Given the description of an element on the screen output the (x, y) to click on. 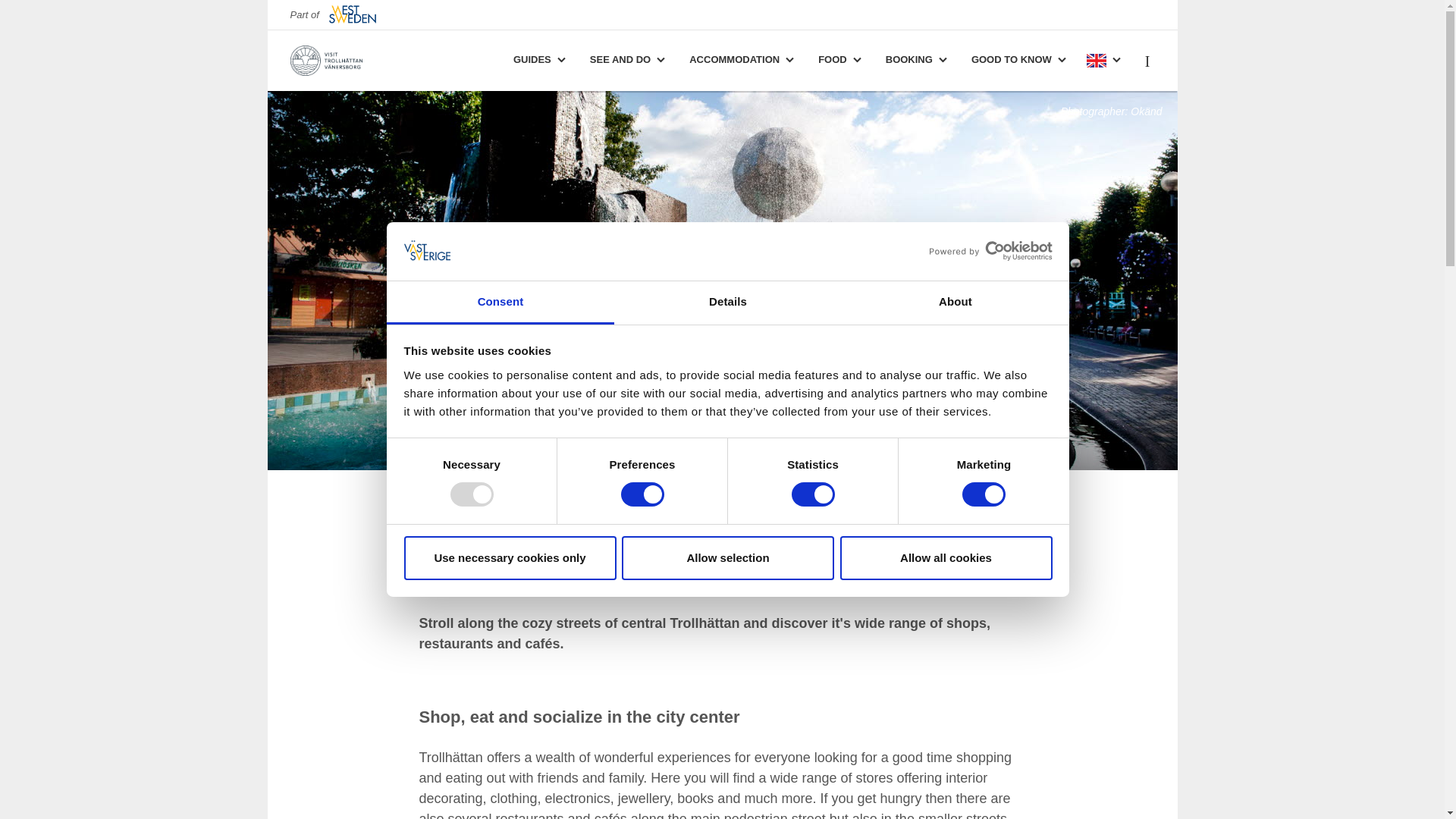
Consent (500, 302)
About (954, 302)
Details (727, 302)
